Given the description of an element on the screen output the (x, y) to click on. 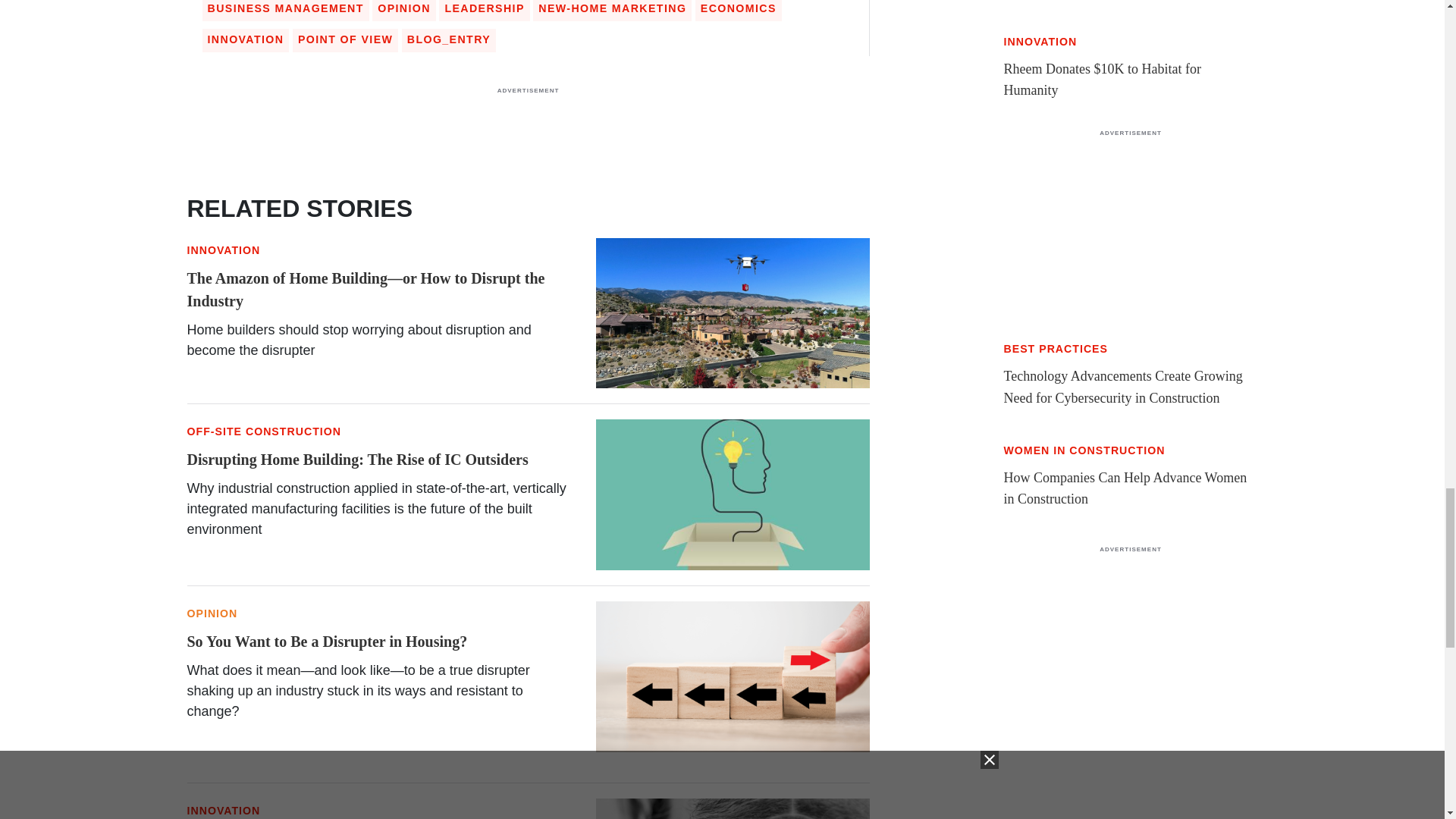
ECONOMICS (738, 8)
true (527, 137)
INNOVATION (245, 39)
BUSINESS MANAGEMENT (286, 8)
true (1130, 232)
NEW-HOME MARKETING (611, 8)
LEADERSHIP (484, 8)
OPINION (403, 8)
